Given the description of an element on the screen output the (x, y) to click on. 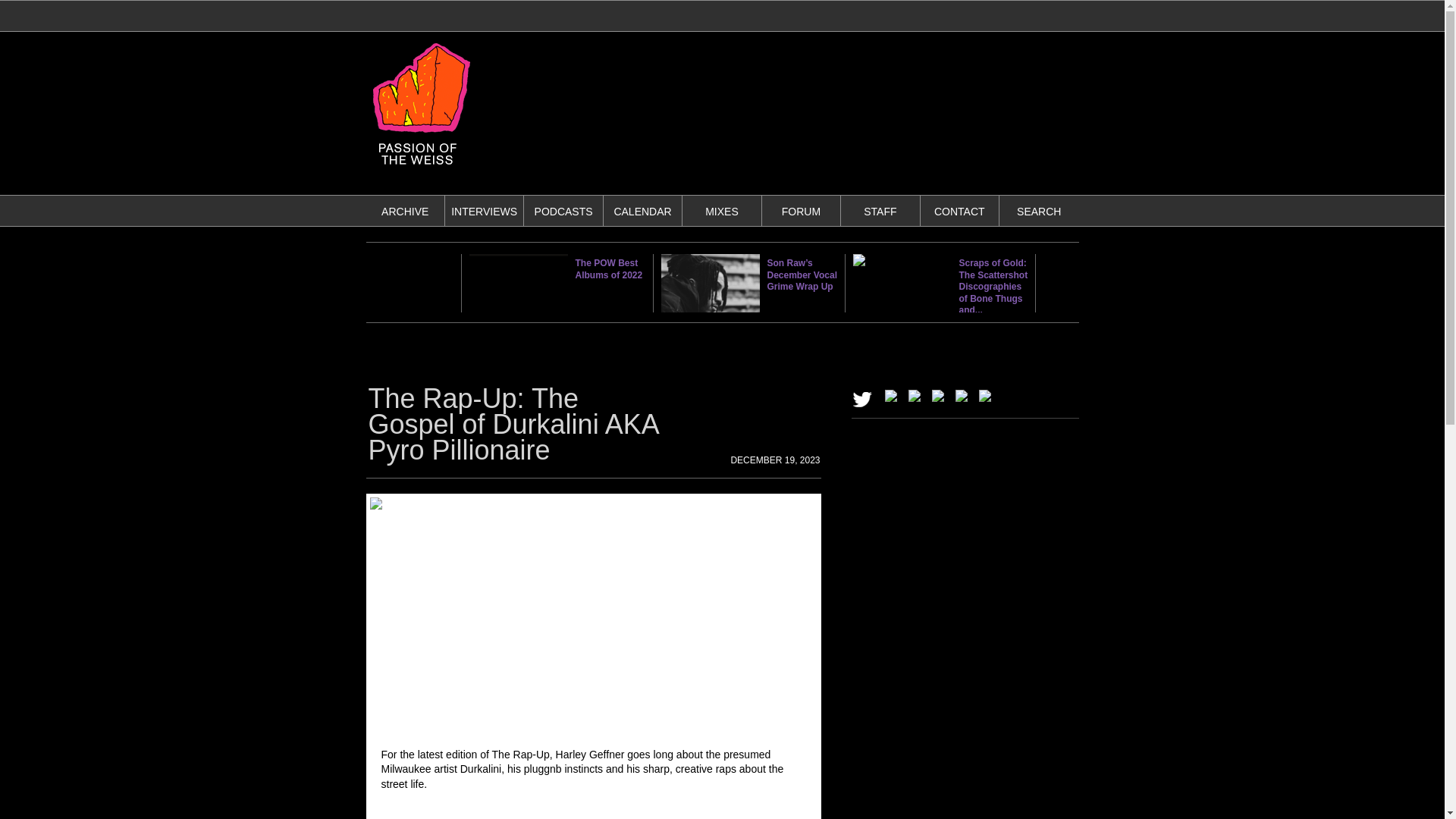
FORUM (801, 211)
SEARCH (1038, 211)
CONTACT (959, 211)
PODCASTS (563, 211)
CALENDAR (641, 211)
The Rap-Up: The Gospel of Durkalini AKA Pyro Pillionaire (513, 424)
STAFF (879, 211)
ARCHIVE (404, 211)
The POW Best Albums of 2022 (608, 268)
INTERVIEWS (483, 211)
Passion of the Weiss (420, 168)
MIXES (721, 211)
